Given the description of an element on the screen output the (x, y) to click on. 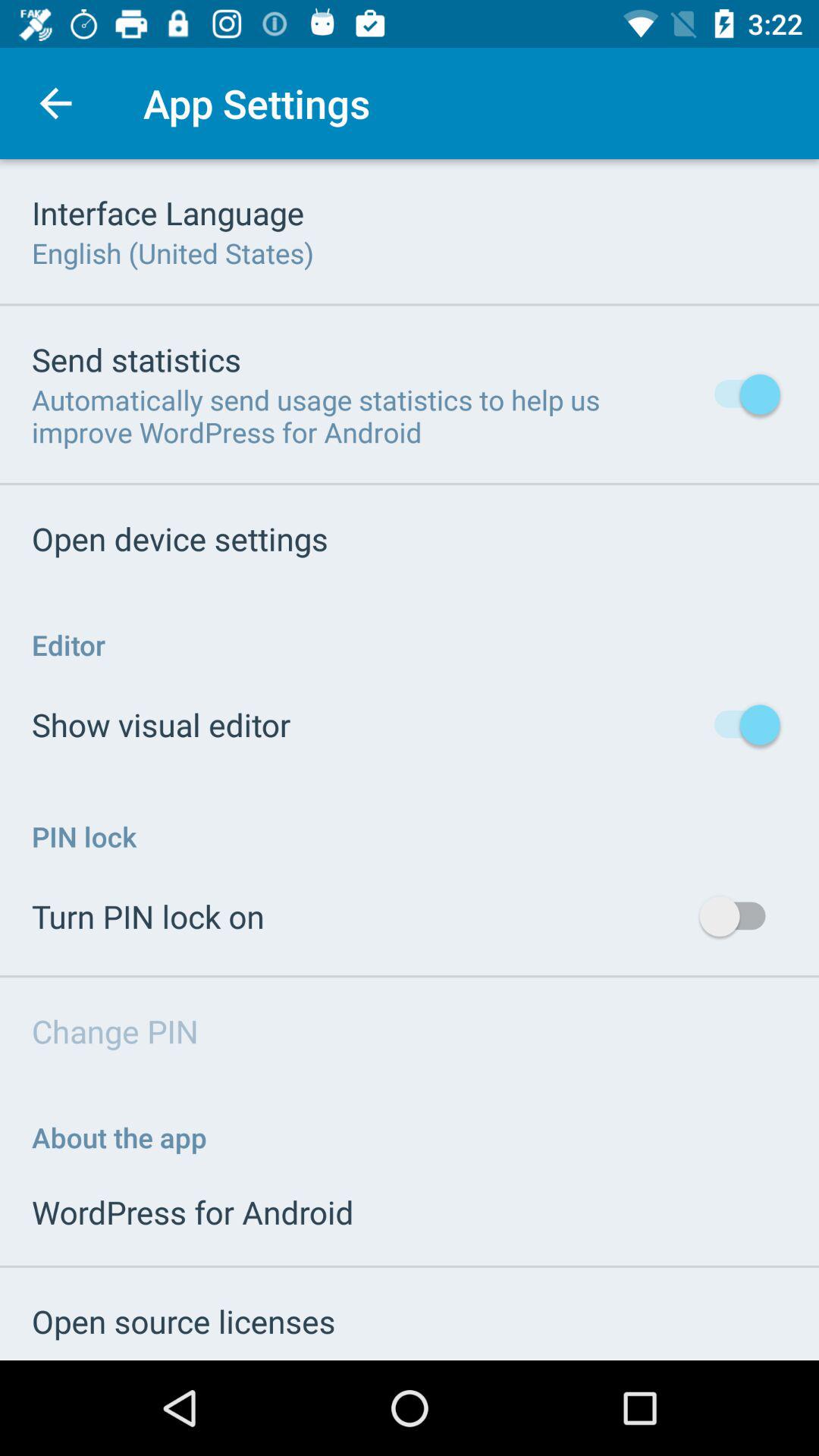
open the item below the turn pin lock icon (114, 1030)
